Given the description of an element on the screen output the (x, y) to click on. 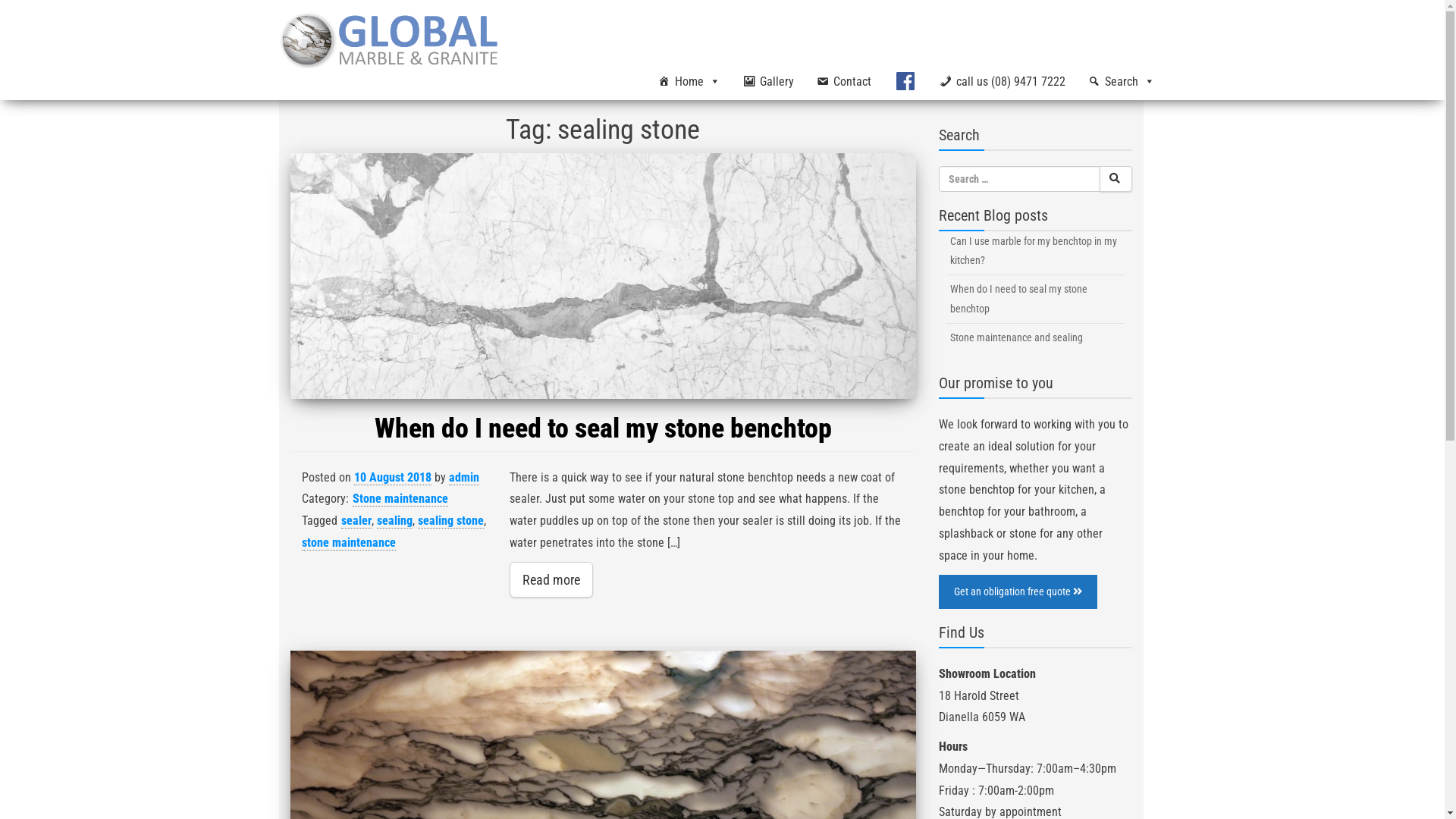
Get an obligation free quote Element type: text (1017, 591)
Read more Element type: text (551, 579)
Search Element type: text (1121, 81)
Search for: Element type: hover (1019, 178)
When do I need to seal my stone benchtop Element type: hover (602, 275)
sealing Element type: text (393, 520)
Search Element type: text (1136, 293)
call us (08) 9471 7222 Element type: text (1002, 81)
Global Marble & Granite Pty Ltd Element type: text (538, 65)
10 August 2018 Element type: text (391, 477)
Home Element type: text (688, 81)
When do I need to seal my stone benchtop Element type: text (1035, 298)
Can I use marble for my benchtop in my kitchen? Element type: text (1035, 250)
sealing stone Element type: text (450, 520)
Contact Element type: text (843, 81)
stone maintenance Element type: text (348, 542)
Gallery Element type: text (767, 81)
When do I need to seal my stone benchtop Element type: text (602, 428)
Stone maintenance and sealing Element type: text (1035, 337)
Stone maintenance Element type: text (399, 498)
  Element type: text (1115, 178)
Search Element type: text (1136, 131)
admin Element type: text (463, 477)
sealer Element type: text (356, 520)
